Given the description of an element on the screen output the (x, y) to click on. 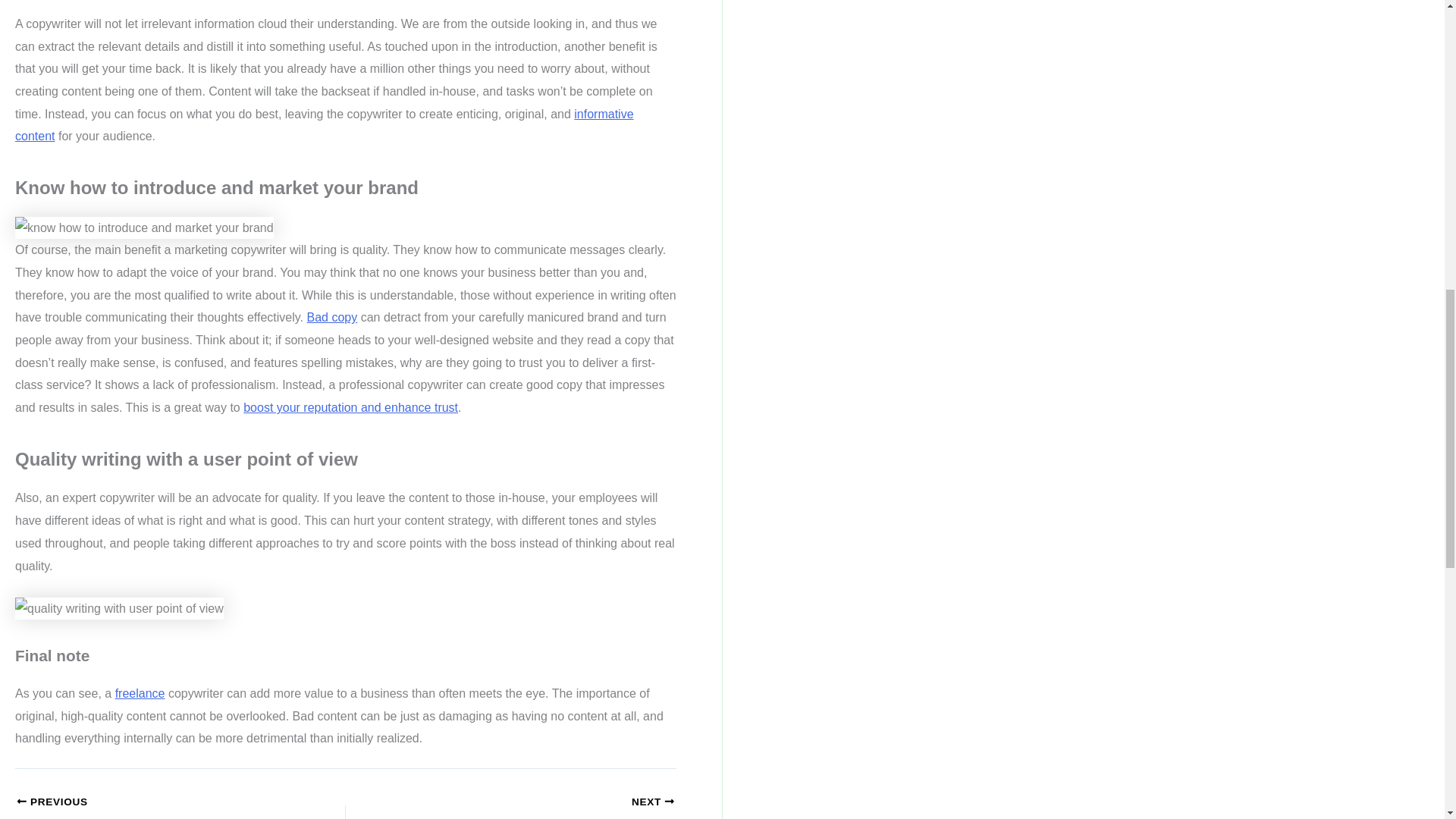
Top 7 Reasons Why You Should do a Python Certification (148, 806)
boost your reputation and enhance trust (350, 407)
Bad copy (332, 317)
Ecommerce SEO: The Basics (542, 806)
informative content (323, 125)
freelance (140, 693)
